Given the description of an element on the screen output the (x, y) to click on. 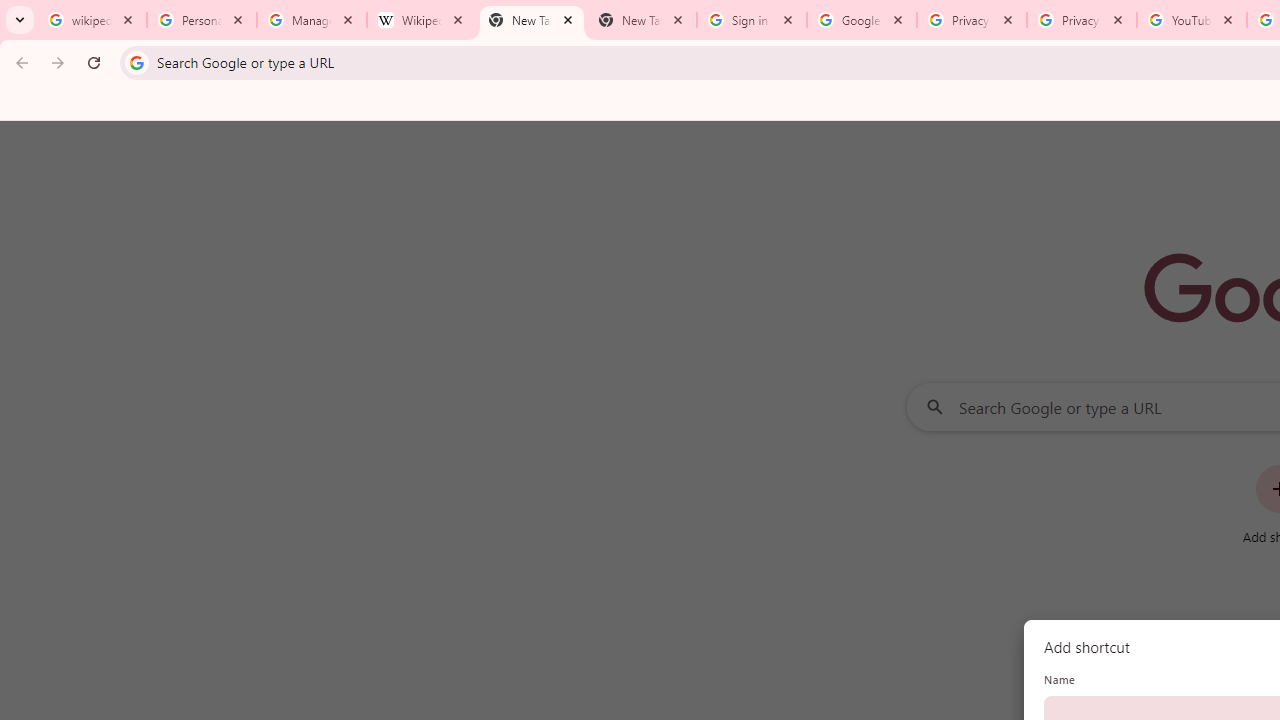
Google Drive: Sign-in (861, 20)
